Given the description of an element on the screen output the (x, y) to click on. 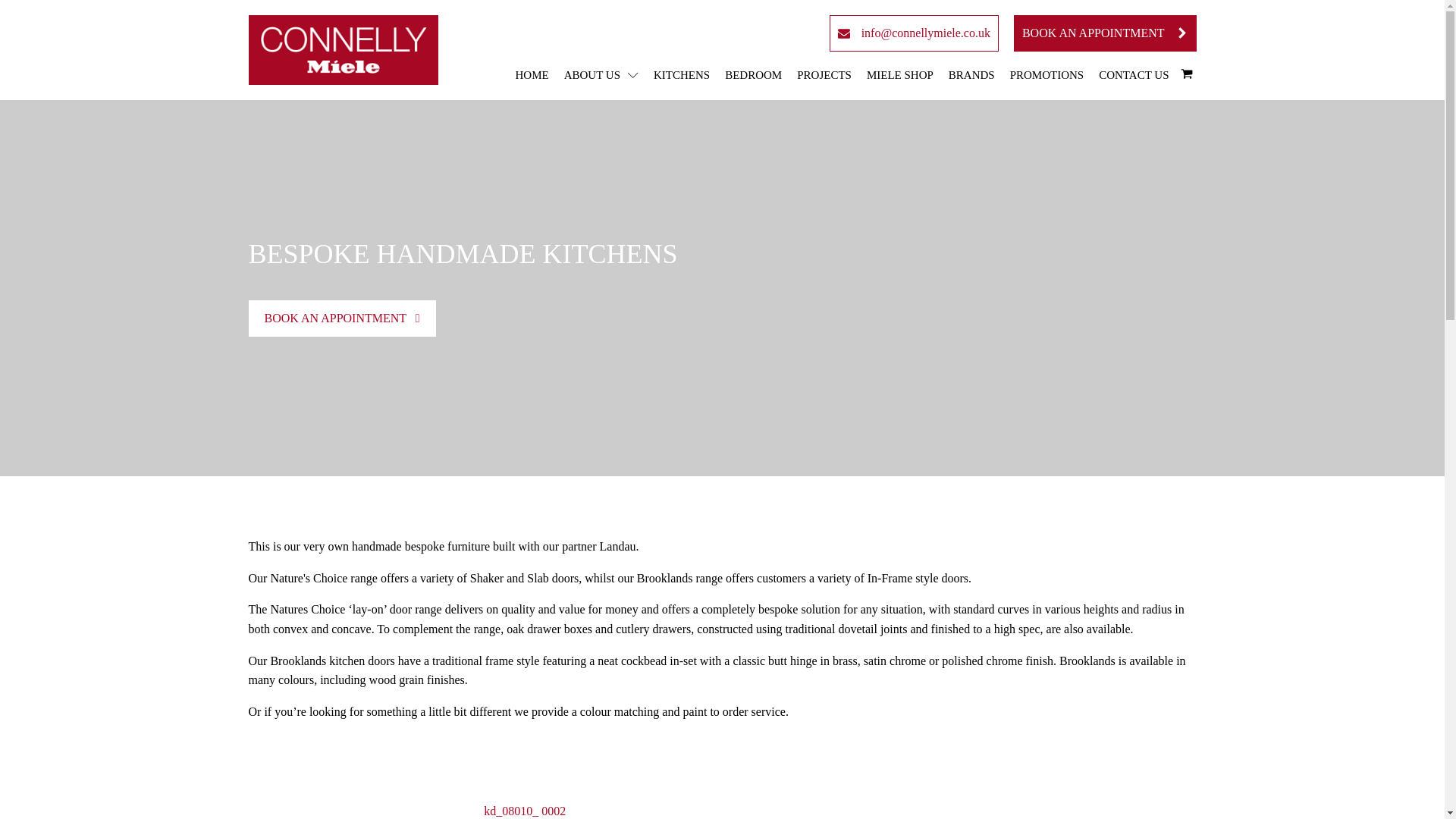
BRANDS (971, 75)
BEDROOM (753, 75)
HOME (531, 75)
PROMOTIONS (1047, 75)
ABOUT US (601, 75)
PROJECTS (823, 75)
BOOK AN APPOINTMENT    (341, 318)
KITCHENS (681, 75)
CONTACT US (1134, 75)
MIELE SHOP (899, 75)
BOOK AN APPOINTMENT (1104, 33)
